Given the description of an element on the screen output the (x, y) to click on. 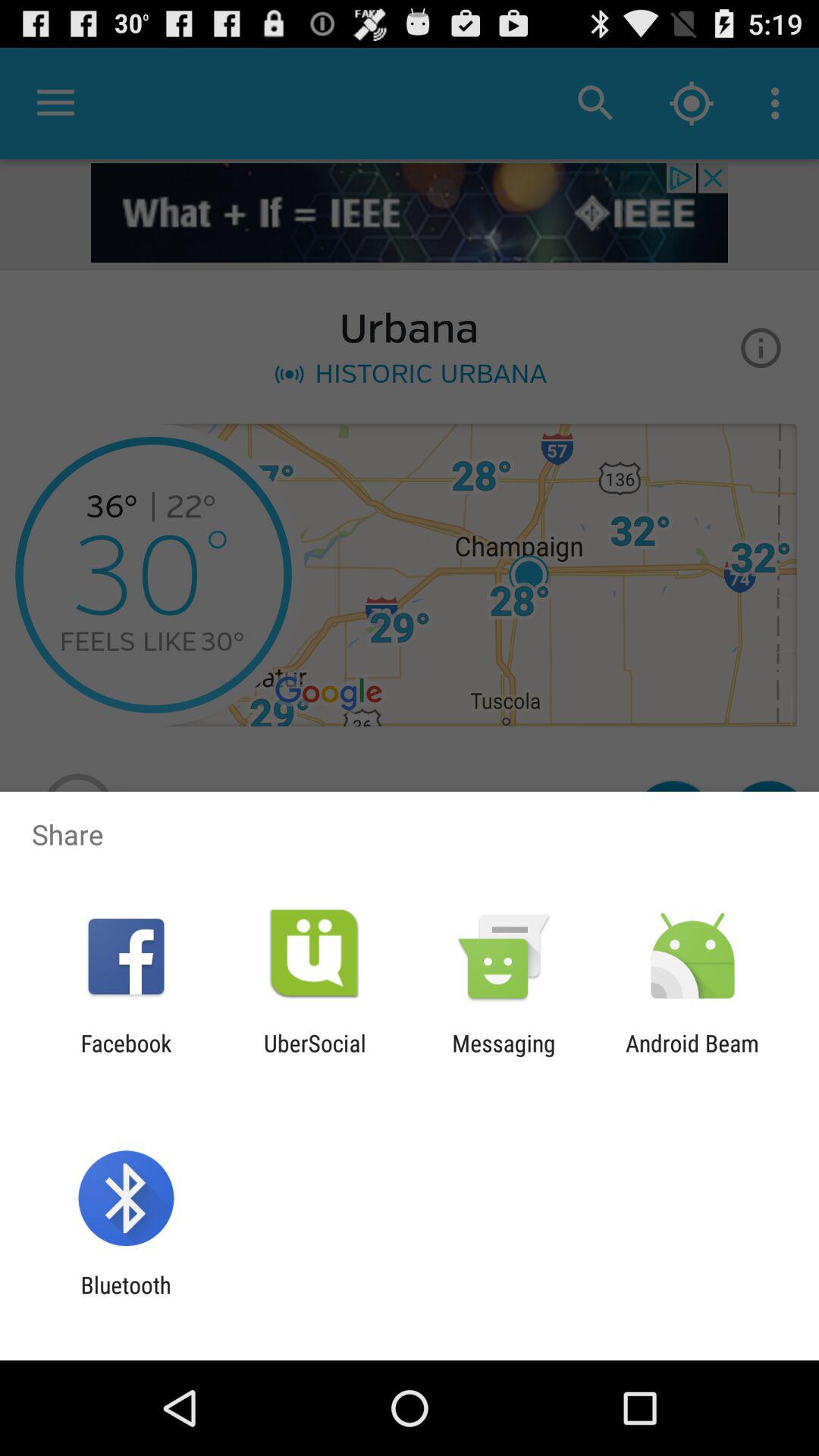
scroll until android beam icon (692, 1056)
